Given the description of an element on the screen output the (x, y) to click on. 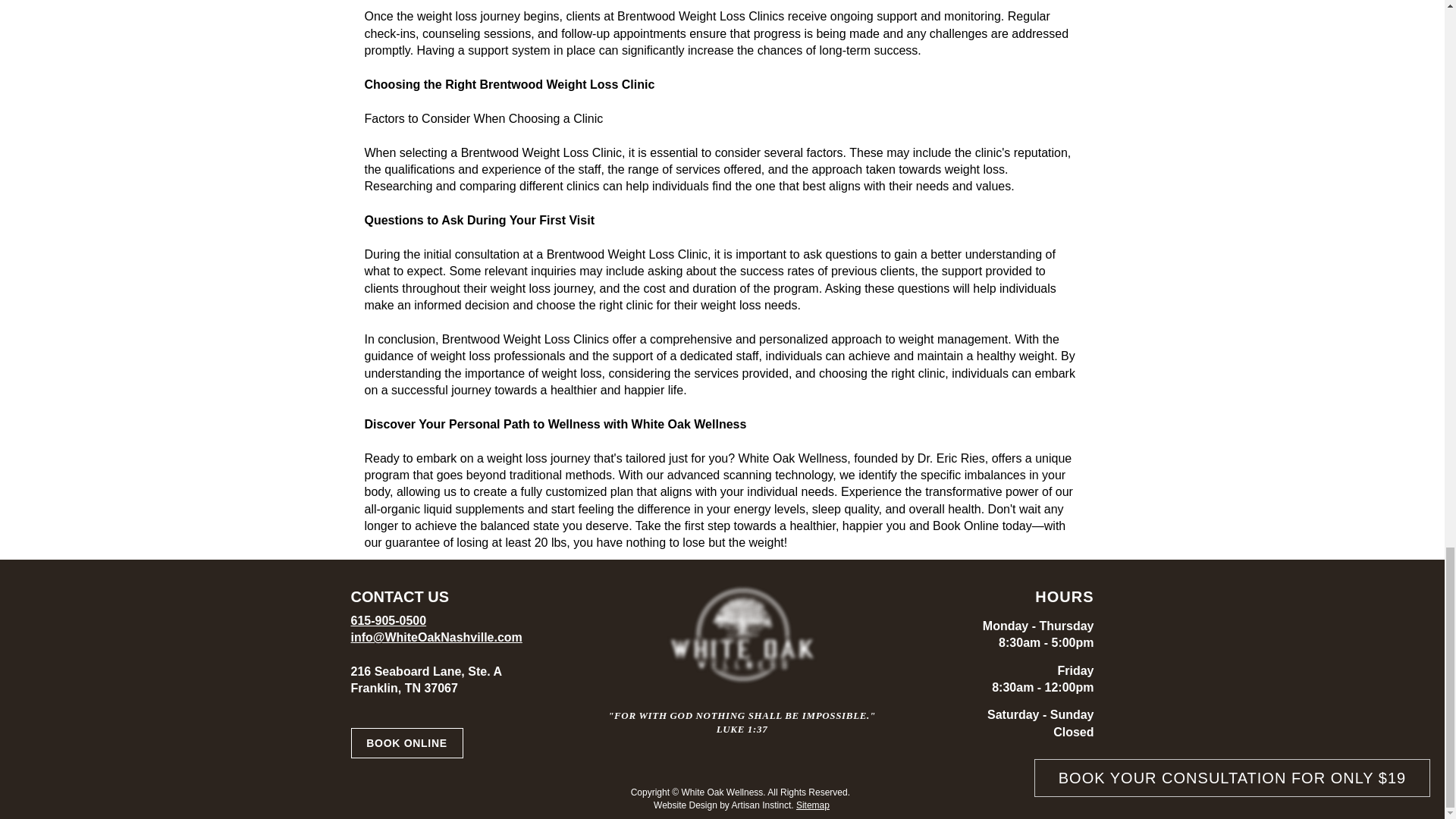
Sitemap (812, 805)
615-905-0500 (388, 620)
BOOK ONLINE (406, 743)
